Given the description of an element on the screen output the (x, y) to click on. 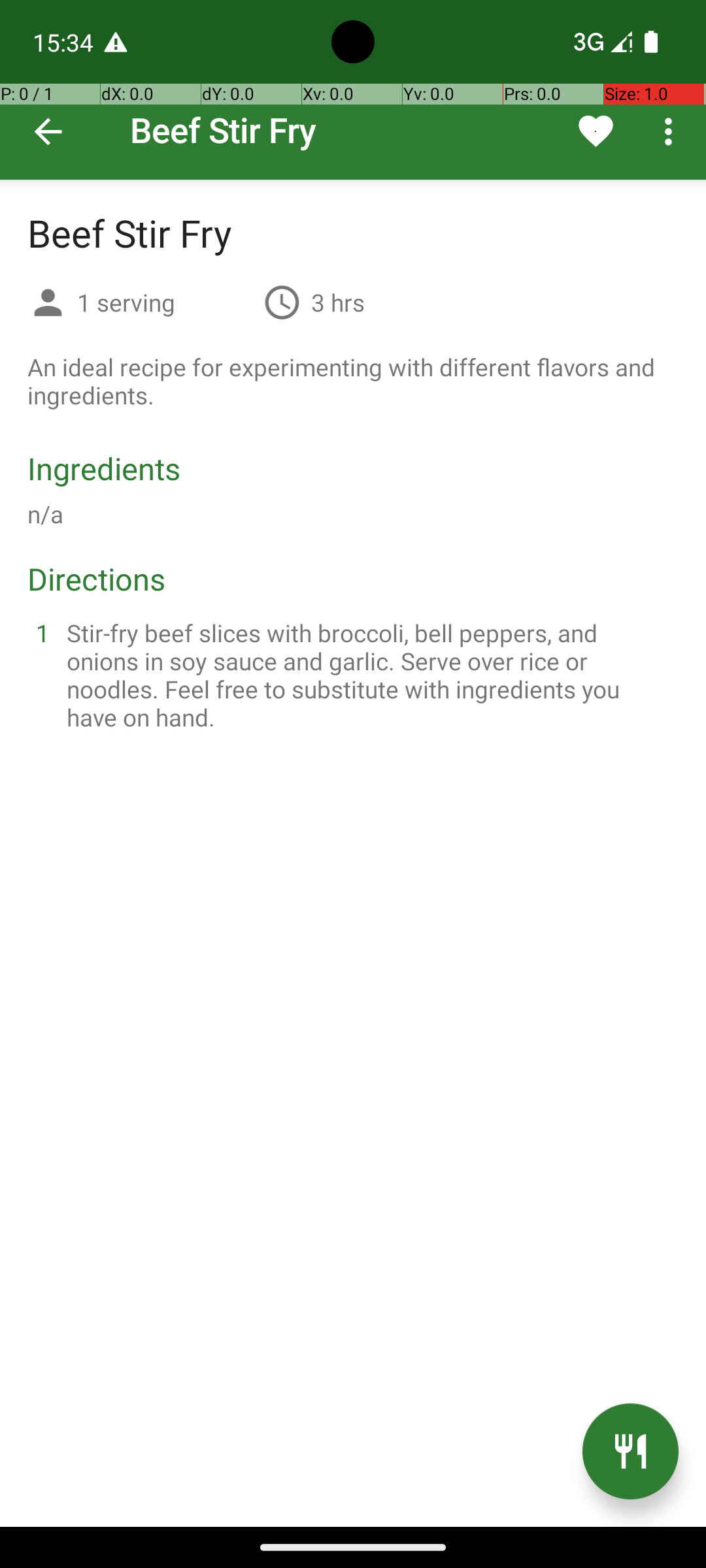
n/a Element type: android.widget.TextView (45, 513)
Stir-fry beef slices with broccoli, bell peppers, and onions in soy sauce and garlic. Serve over rice or noodles. Feel free to substitute with ingredients you have on hand. Element type: android.widget.TextView (368, 674)
